Given the description of an element on the screen output the (x, y) to click on. 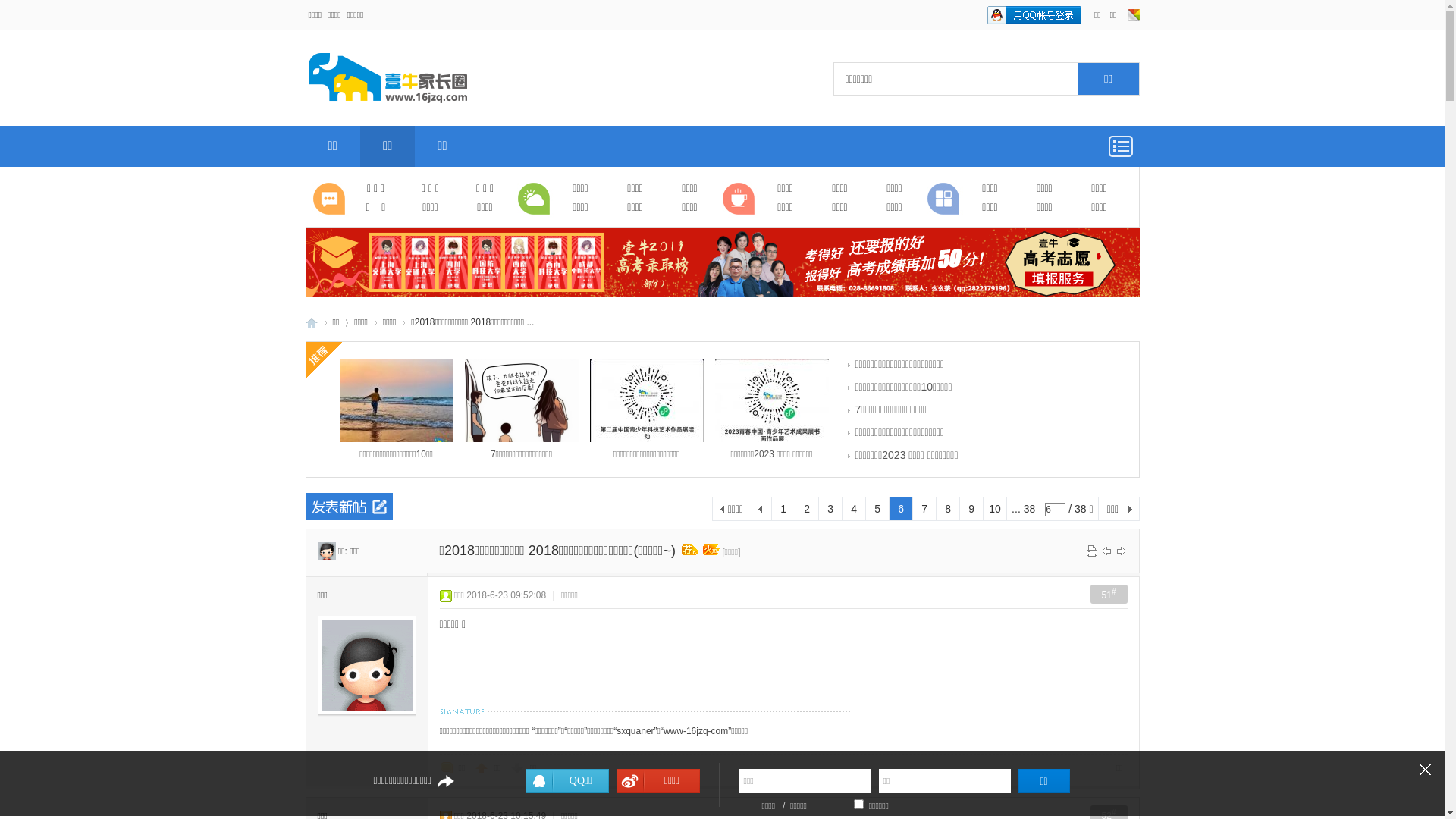
1 Element type: text (783, 508)
   Element type: text (759, 508)
5 Element type: text (877, 508)
10 Element type: text (994, 508)
... 38 Element type: text (1023, 508)
2 Element type: text (806, 508)
9 Element type: text (971, 508)
51# Element type: text (1108, 593)
3 Element type: text (830, 508)
4 Element type: text (853, 508)
7 Element type: text (924, 508)
8 Element type: text (947, 508)
